Given the description of an element on the screen output the (x, y) to click on. 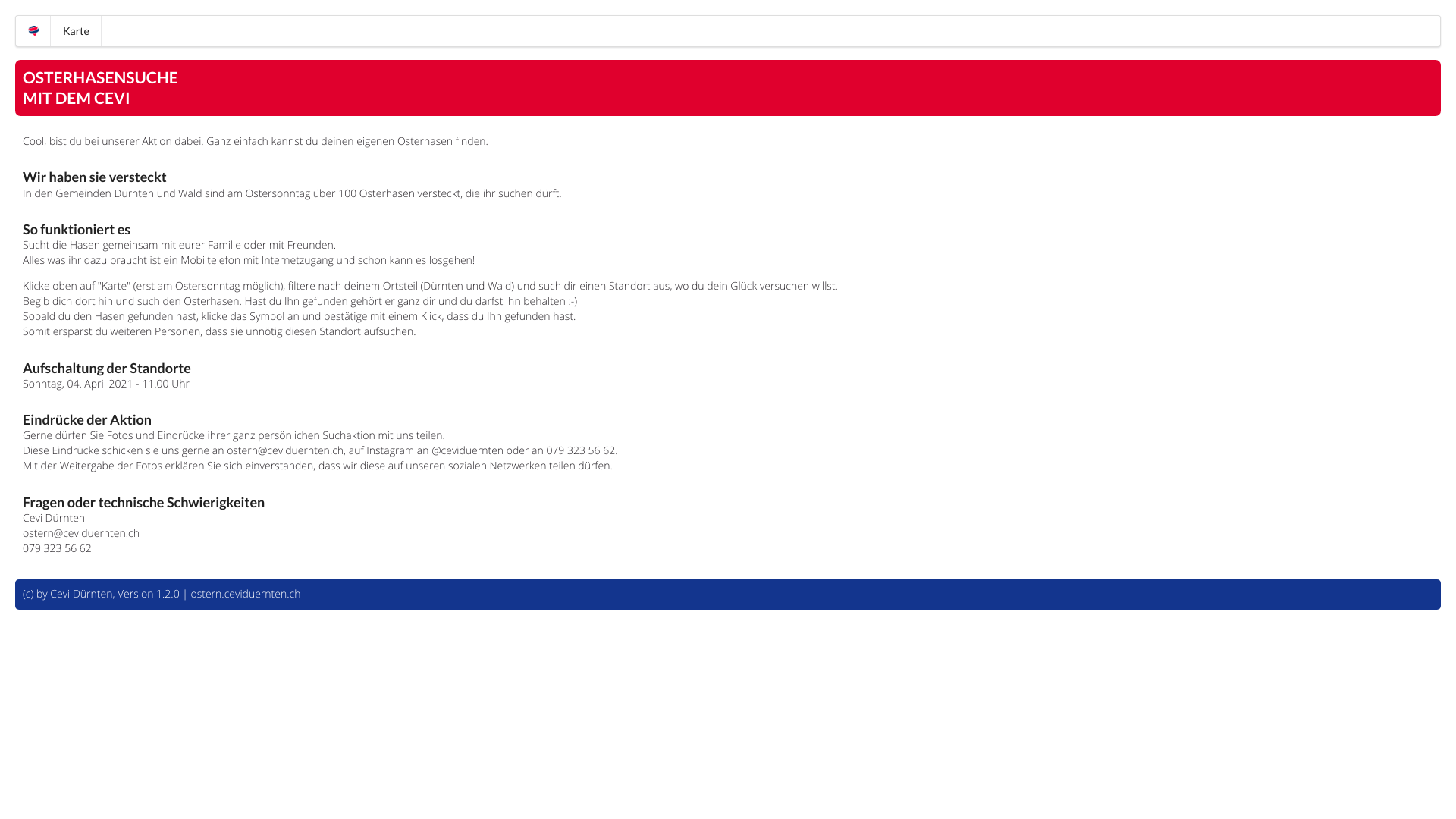
Karte Element type: text (75, 30)
